Given the description of an element on the screen output the (x, y) to click on. 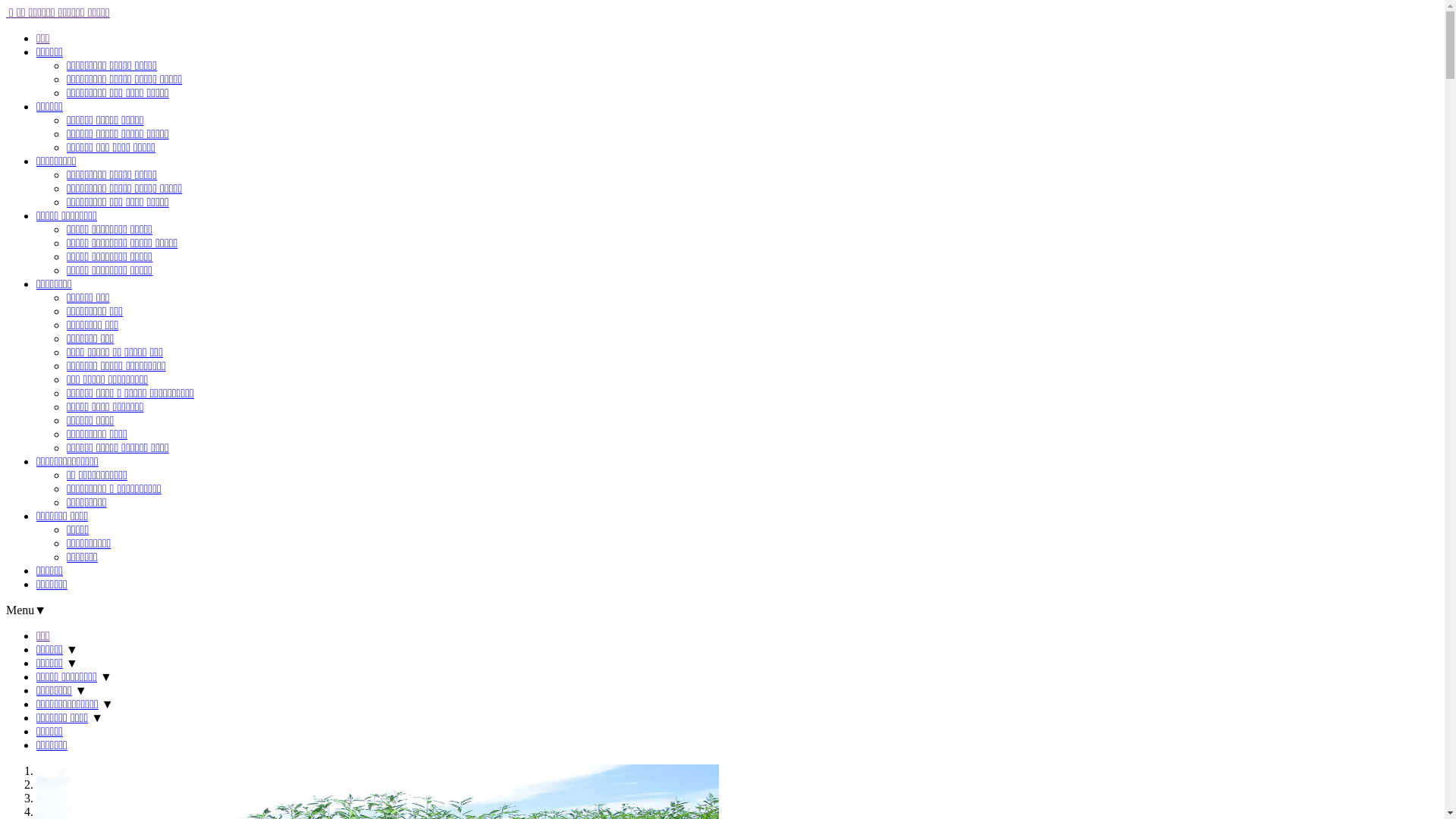
1 Element type: text (39, 770)
4 Element type: text (39, 811)
2 Element type: text (39, 784)
3 Element type: text (39, 797)
